Given the description of an element on the screen output the (x, y) to click on. 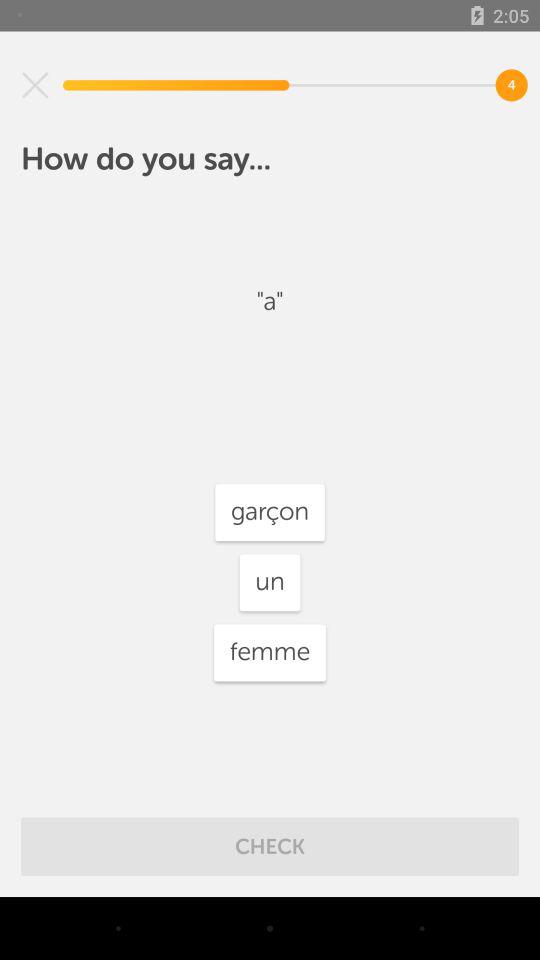
flip until the un (269, 582)
